Given the description of an element on the screen output the (x, y) to click on. 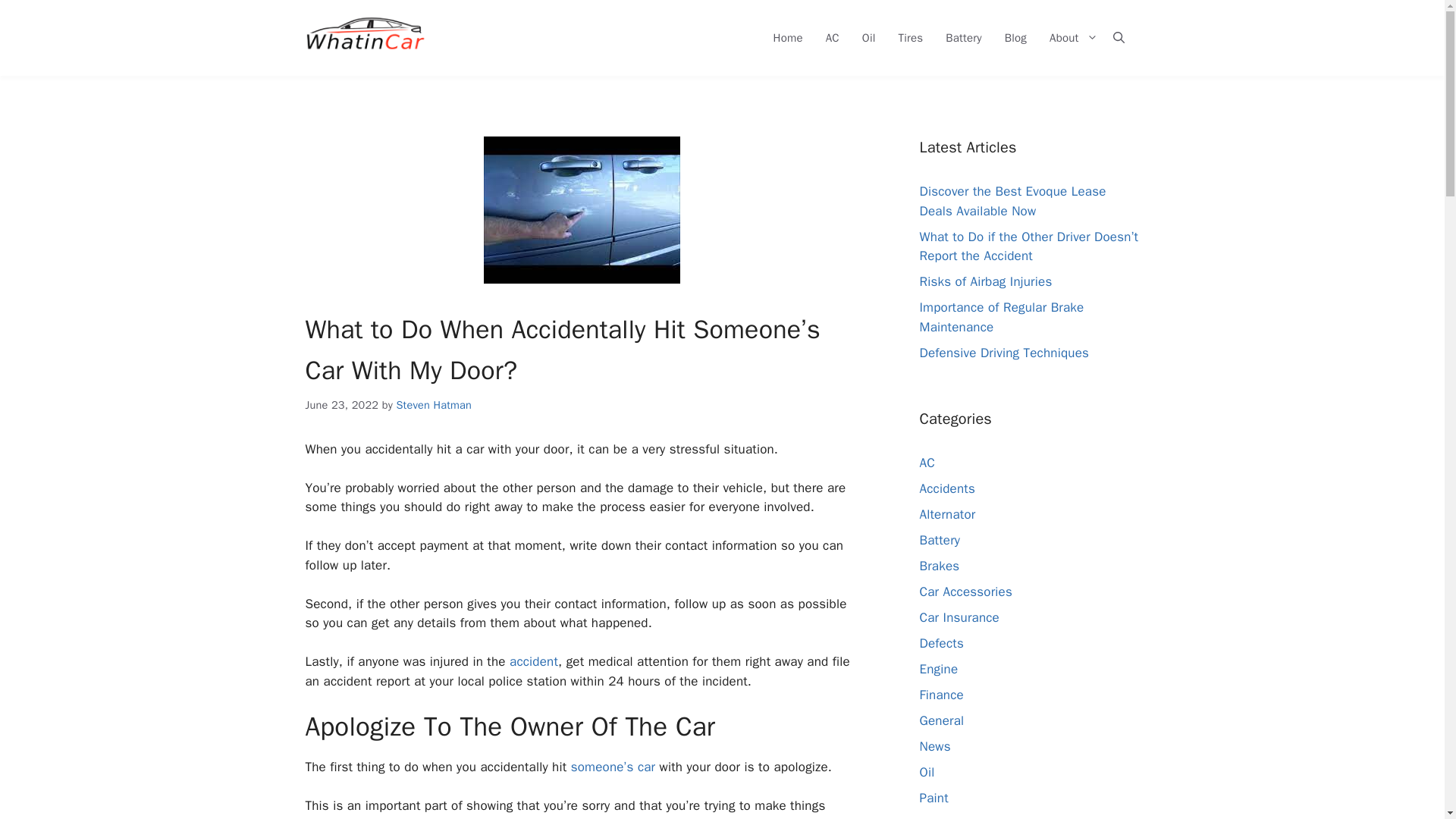
Engine (938, 668)
Risks of Airbag Injuries (984, 281)
Battery (938, 539)
Importance of Regular Brake Maintenance (1000, 316)
Alternator (946, 514)
Car Insurance (958, 617)
Steven Hatman (433, 404)
Defects (940, 643)
Accidents (946, 488)
View all posts by Steven Hatman (433, 404)
